Given the description of an element on the screen output the (x, y) to click on. 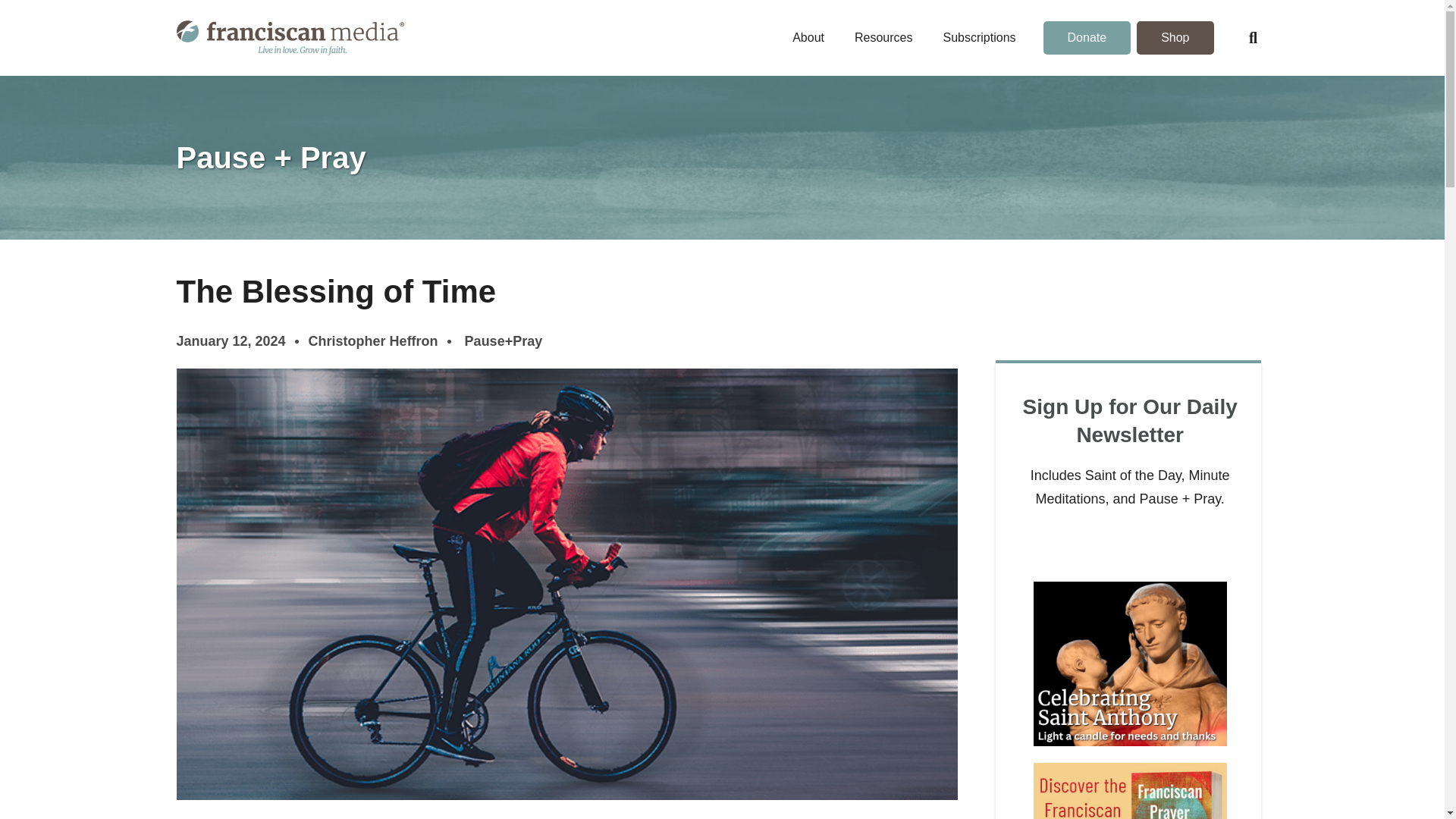
Subscriptions (978, 38)
Shop (1174, 37)
About (808, 38)
Donate (1087, 37)
Resources (883, 38)
